Given the description of an element on the screen output the (x, y) to click on. 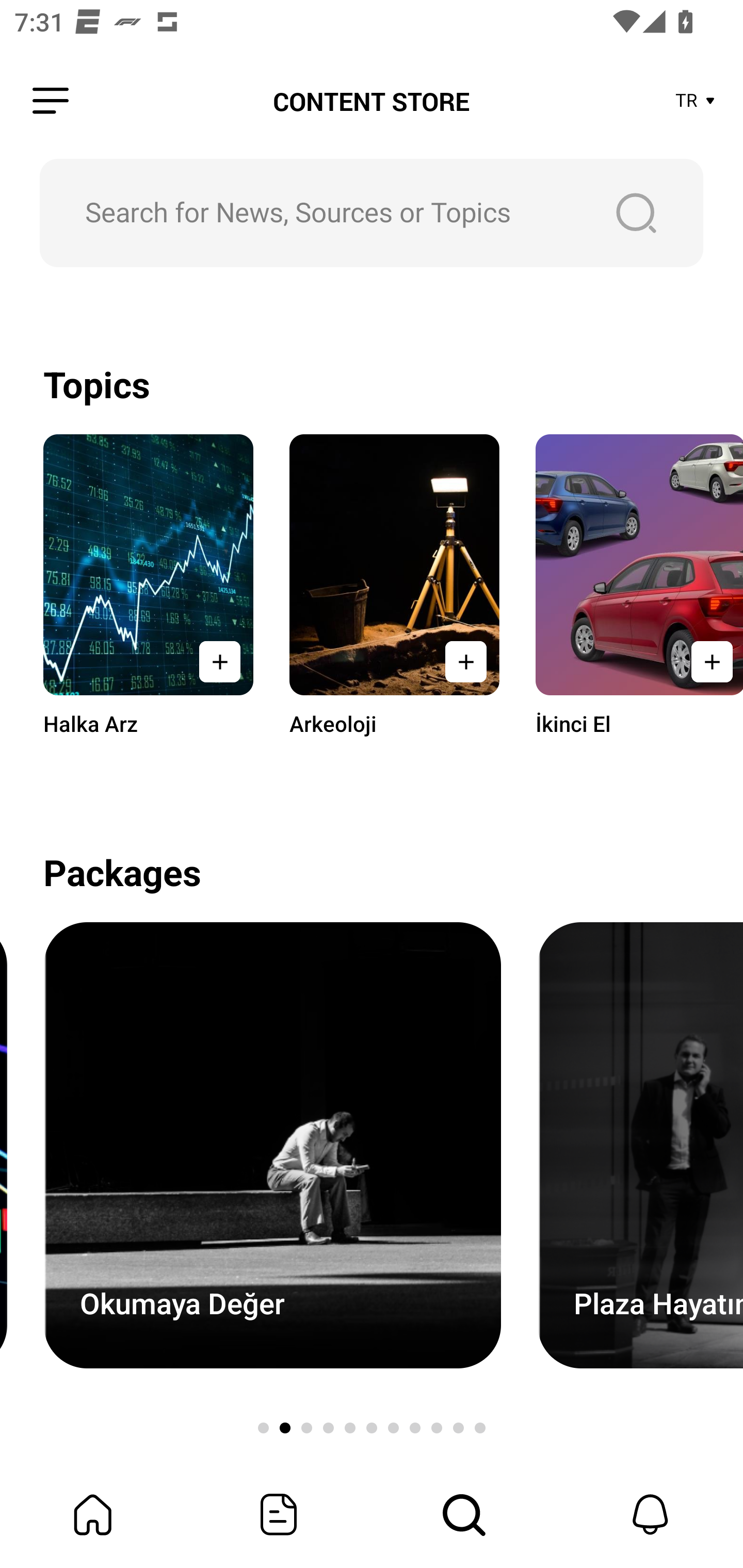
Leading Icon (50, 101)
TR Store Area (695, 101)
Search for News, Sources or Topics Search Button (371, 212)
Add To My Bundle (219, 661)
Add To My Bundle (465, 661)
Add To My Bundle (705, 661)
Content Store Discover Card Image Okumaya Değer (271, 1144)
My Bundle (92, 1514)
Featured (278, 1514)
Notifications (650, 1514)
